Given the description of an element on the screen output the (x, y) to click on. 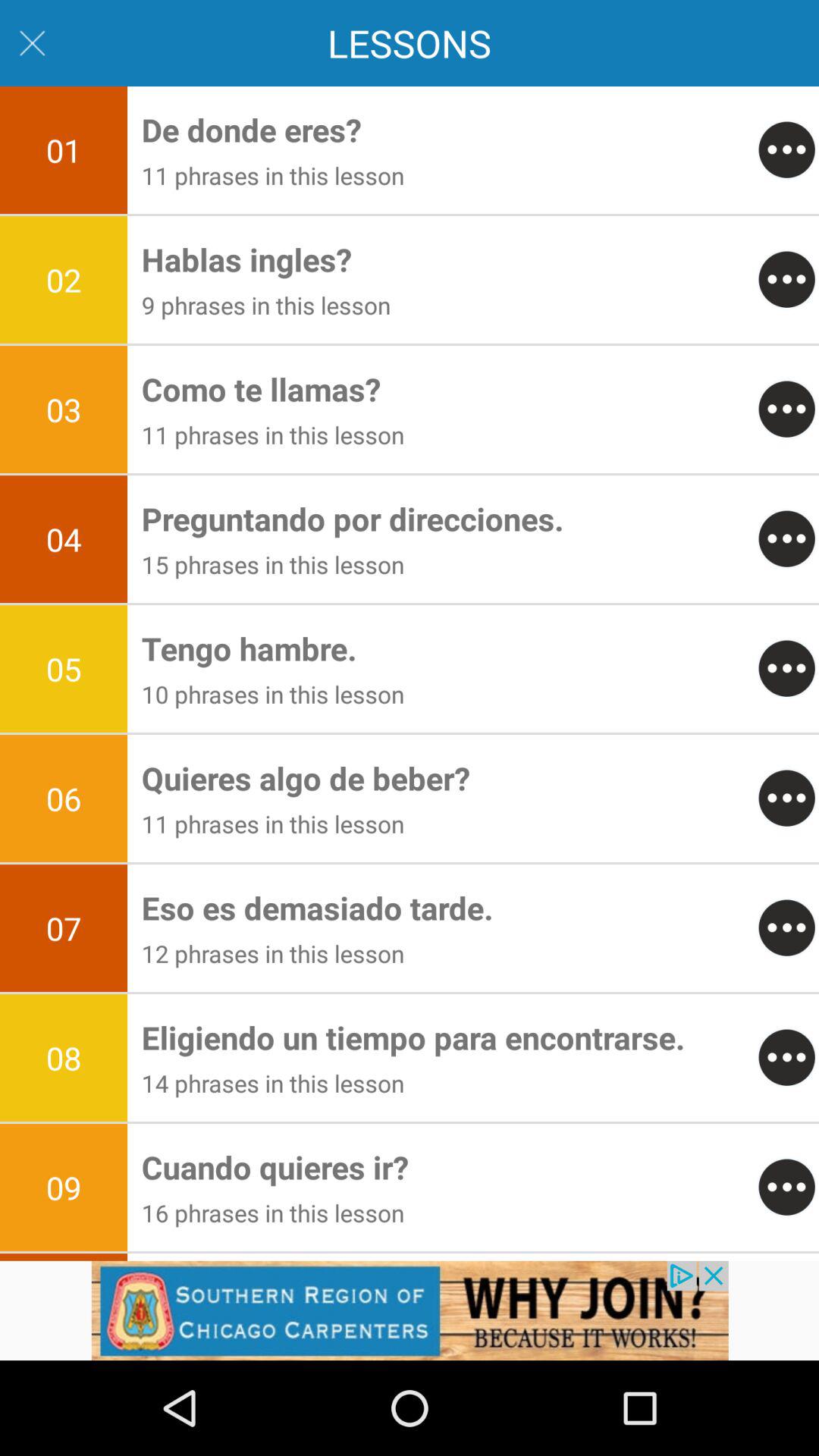
read advertisement (409, 1310)
